Given the description of an element on the screen output the (x, y) to click on. 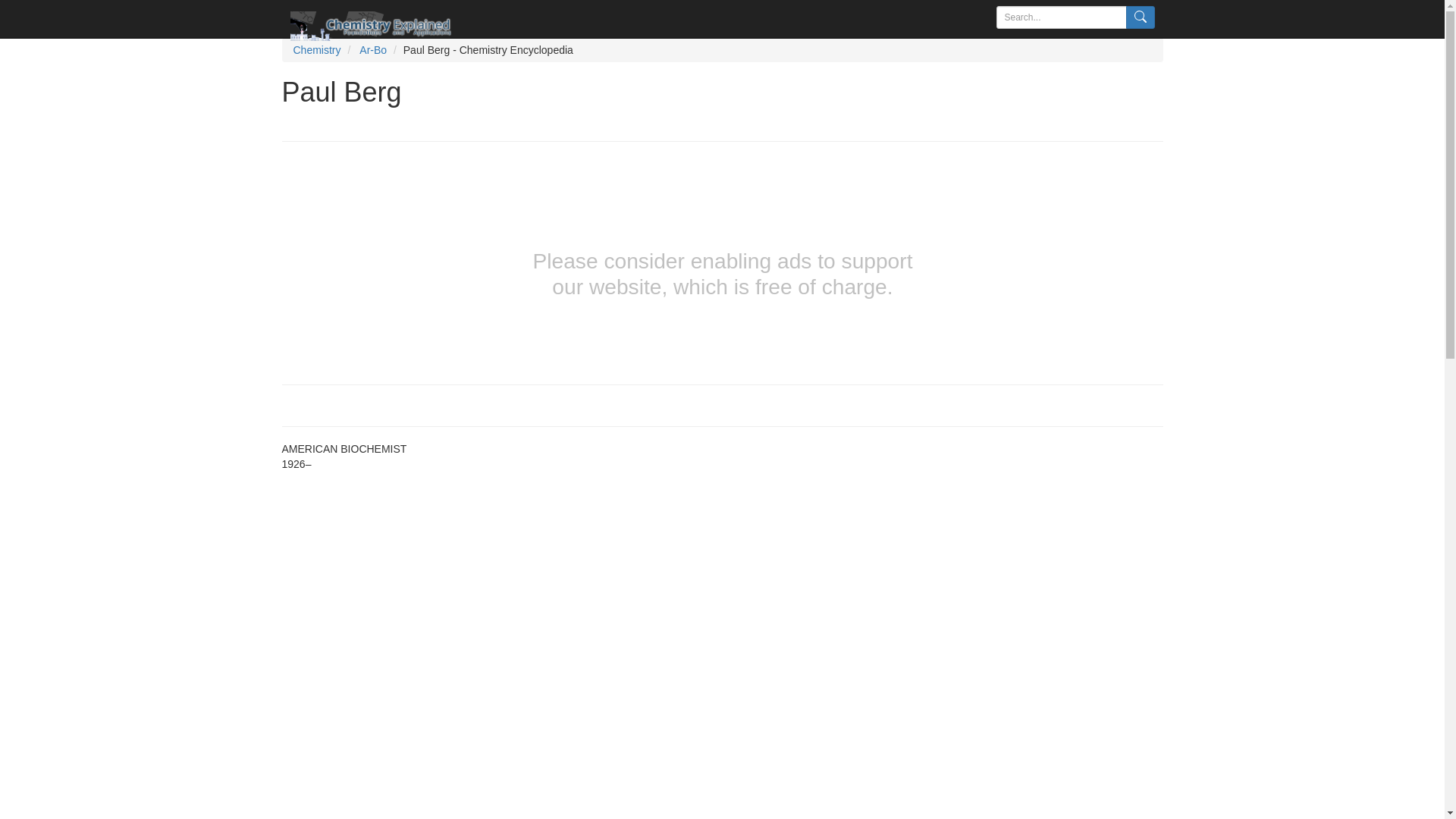
Ar-Bo (373, 50)
Chemistry (316, 50)
